Given the description of an element on the screen output the (x, y) to click on. 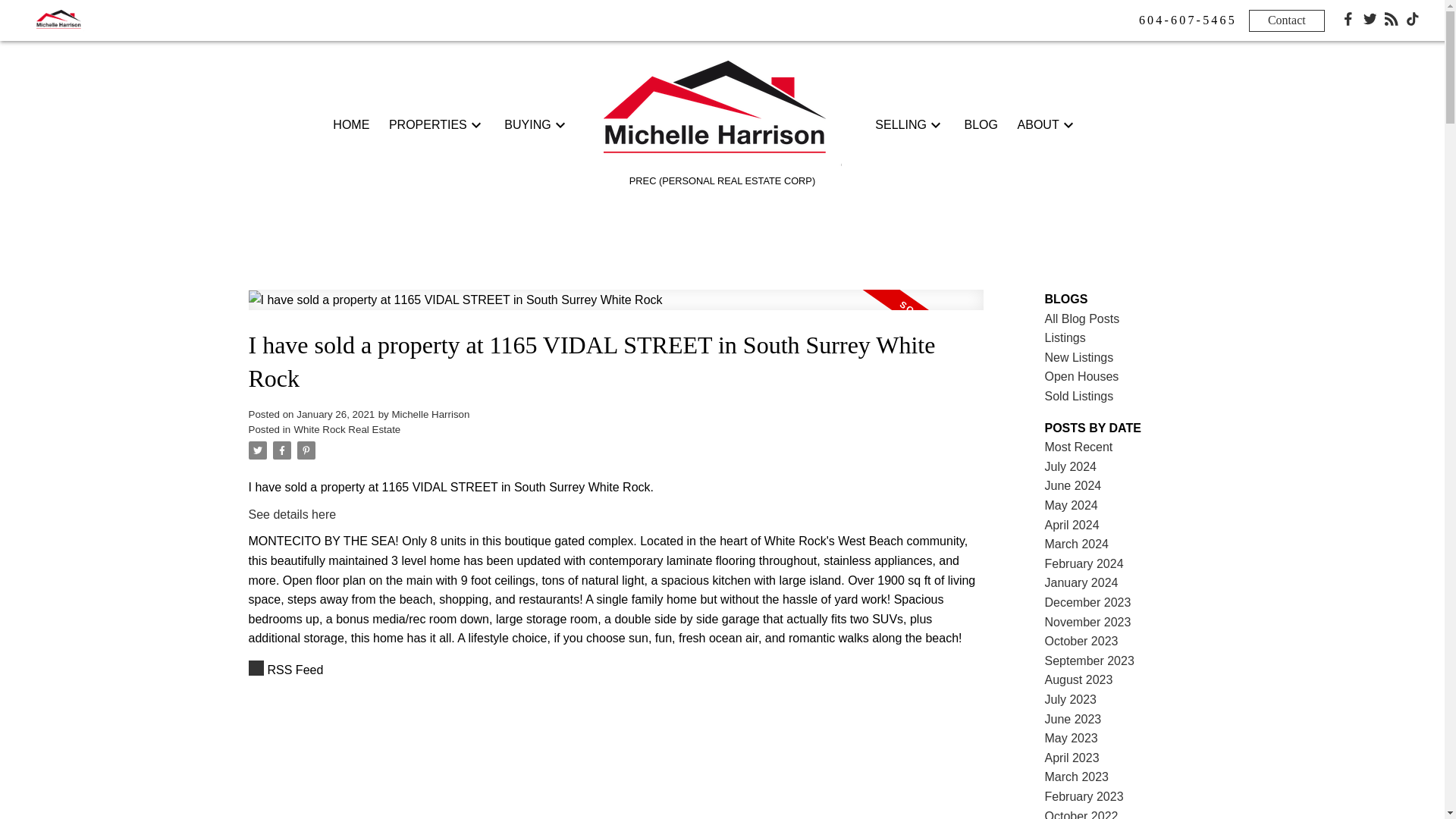
May 2024 (1071, 504)
604-607-5465 (1187, 20)
White Rock Real Estate (347, 429)
April 2024 (1072, 524)
July 2024 (1071, 466)
All Blog Posts (1082, 318)
RSS (616, 670)
June 2024 (1073, 485)
HOME (351, 125)
See details here (292, 513)
New Listings (1079, 357)
March 2024 (1077, 543)
February 2024 (1084, 563)
January 2024 (1081, 582)
Open Houses (1082, 376)
